Given the description of an element on the screen output the (x, y) to click on. 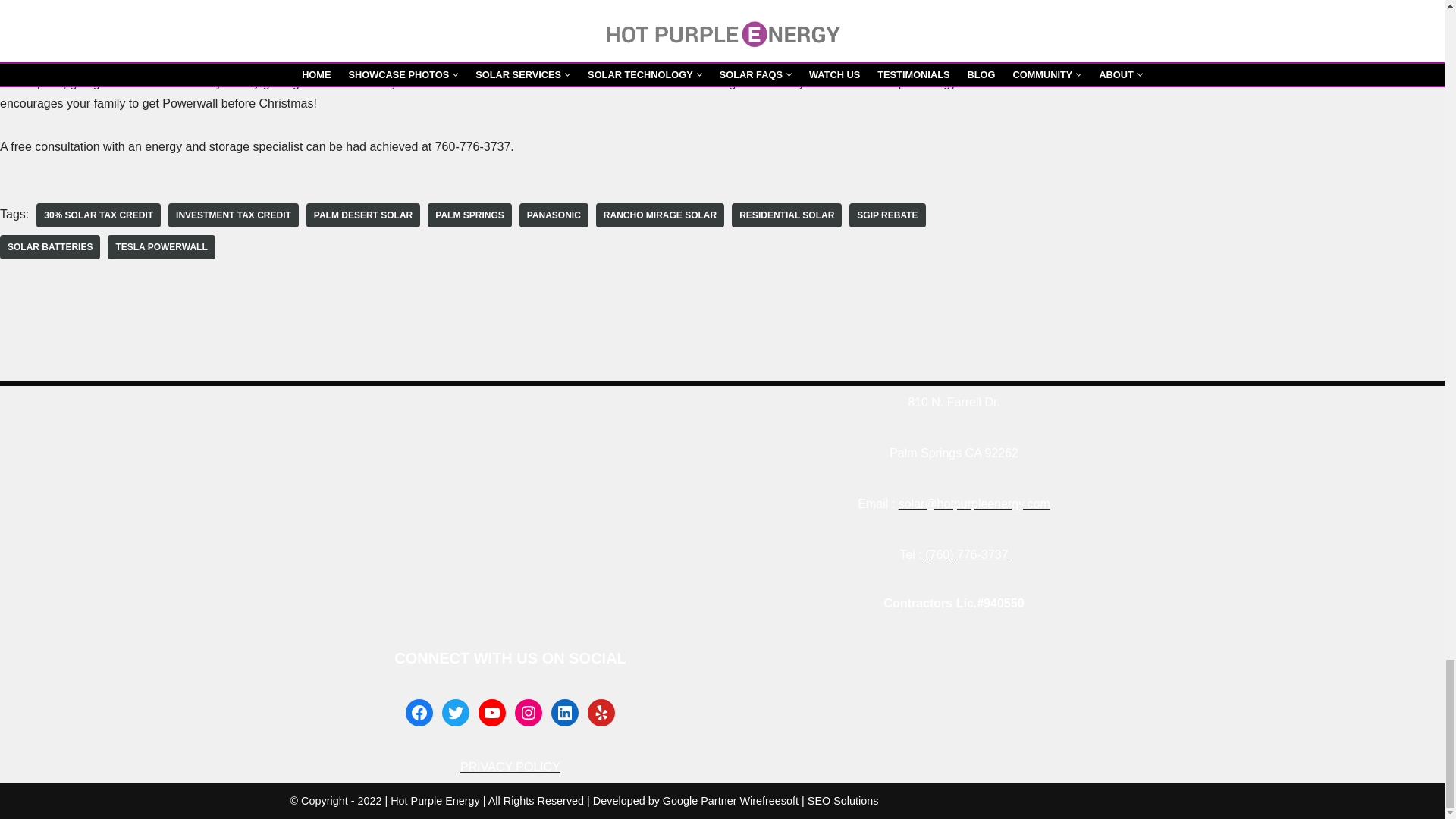
rancho mirage solar (659, 215)
Palm Springs (469, 215)
palm desert solar (362, 215)
Investment Tax Credit (233, 215)
SGIP rebate (886, 215)
Tesla Powerwall (160, 247)
solar batteries (50, 247)
Panasonic (553, 215)
residential solar (786, 215)
